Given the description of an element on the screen output the (x, y) to click on. 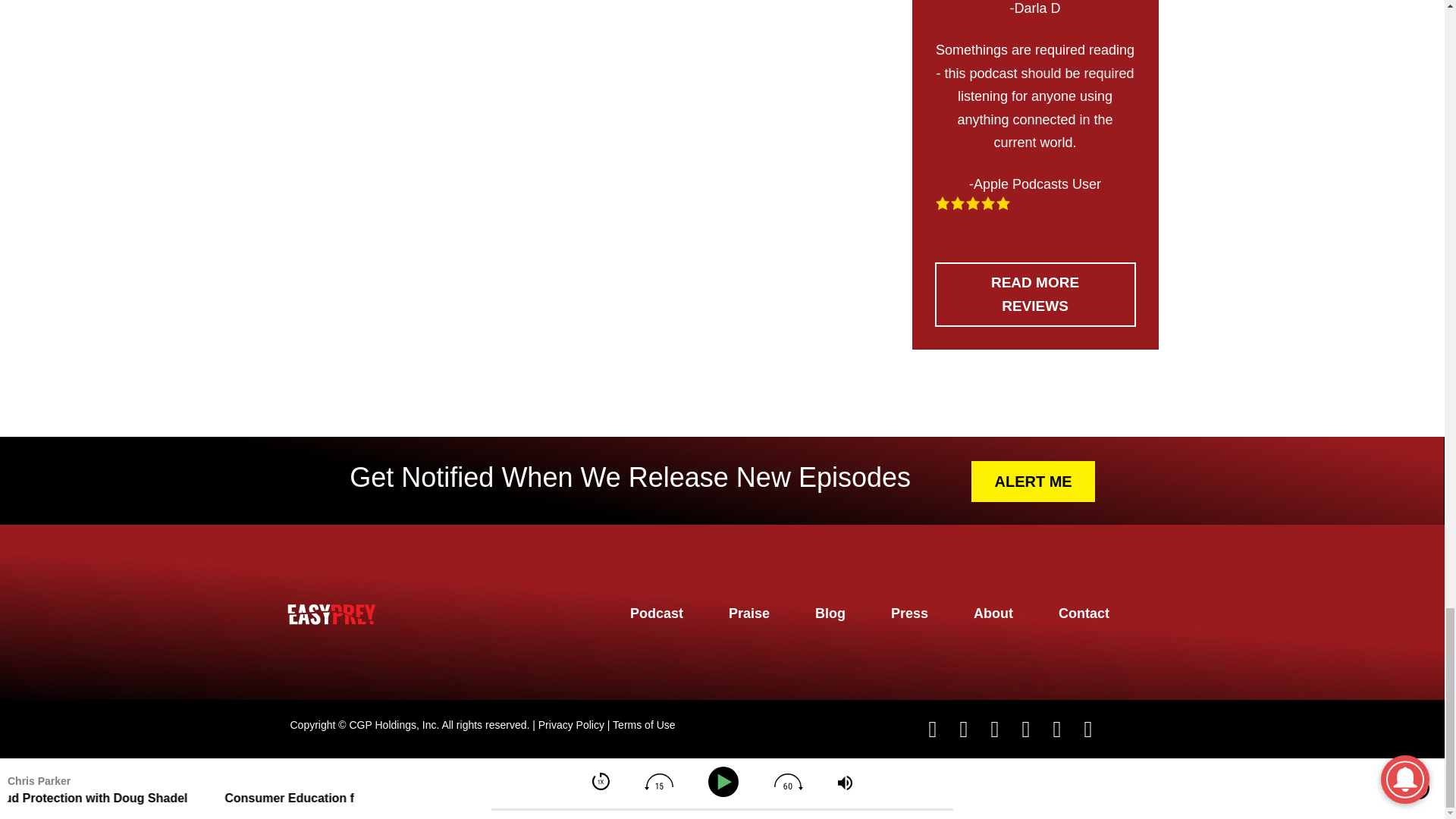
Praise (748, 613)
ALERT ME (1032, 481)
READ MORE REVIEWS (1034, 294)
About (993, 613)
Terms of Use (643, 725)
Contact (1083, 613)
Press (909, 613)
Podcast (656, 613)
Blog (830, 613)
Privacy Policy (571, 725)
